Given the description of an element on the screen output the (x, y) to click on. 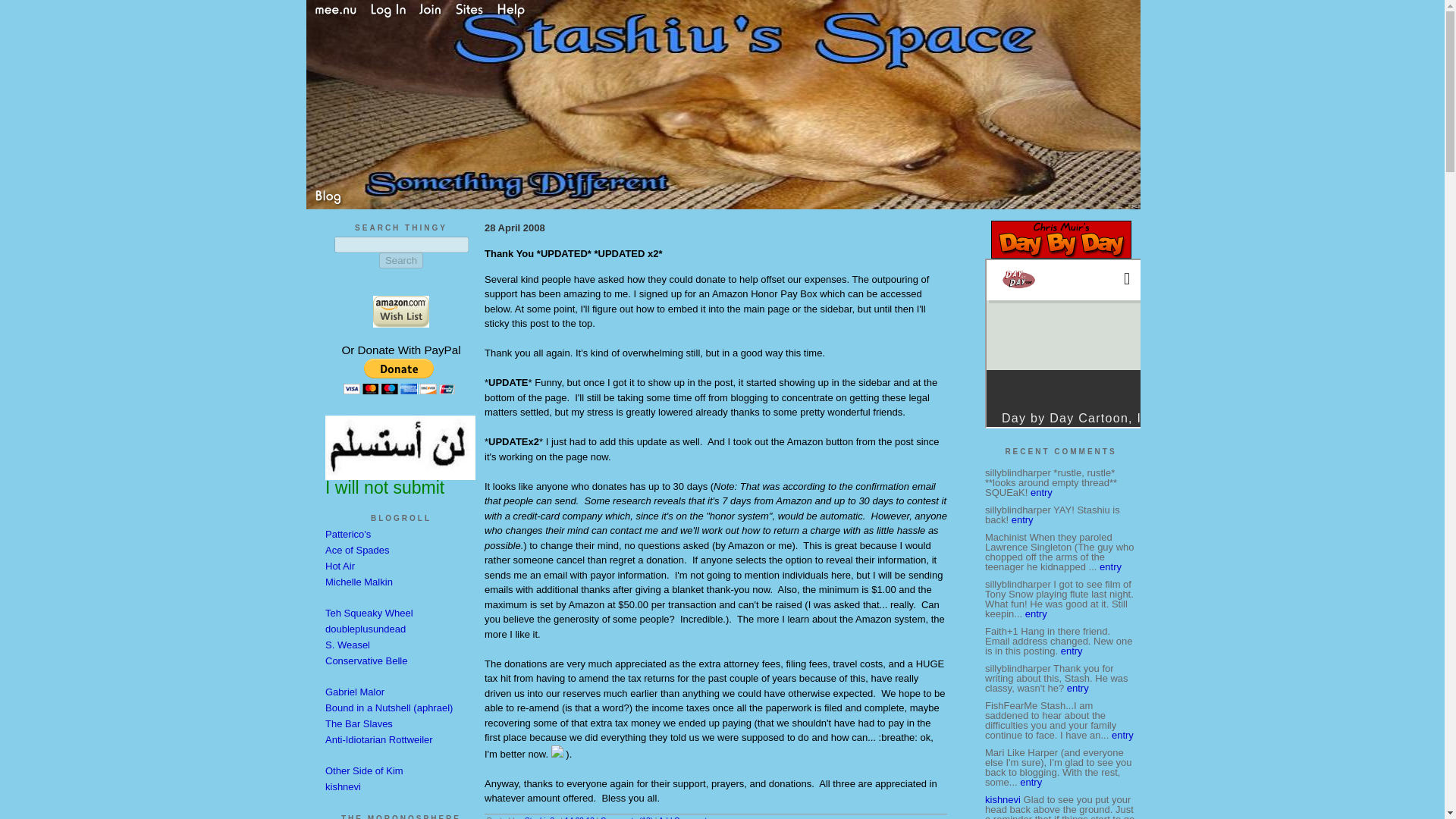
Stashiu3 (539, 817)
14:23:13 (579, 817)
Search (400, 260)
Add Comment (682, 817)
